Given the description of an element on the screen output the (x, y) to click on. 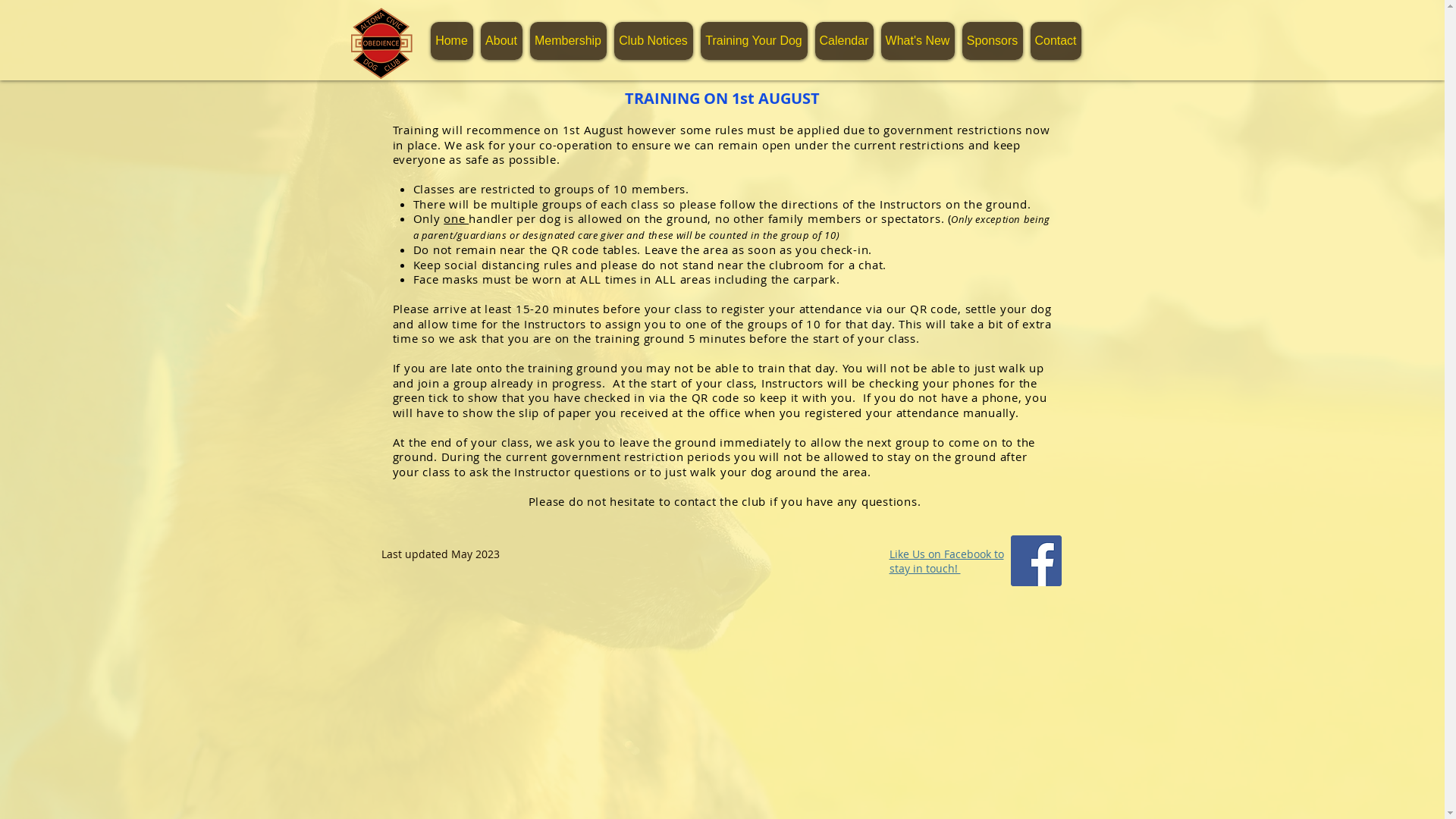
What's New Element type: text (917, 40)
Training Your Dog Element type: text (753, 40)
Sponsors Element type: text (991, 40)
About Element type: text (501, 40)
Like Us on Facebook to stay in touch!  Element type: text (945, 560)
Calendar Element type: text (843, 40)
Home Element type: text (451, 40)
Club Notices Element type: text (653, 40)
Contact Element type: text (1054, 40)
